Given the description of an element on the screen output the (x, y) to click on. 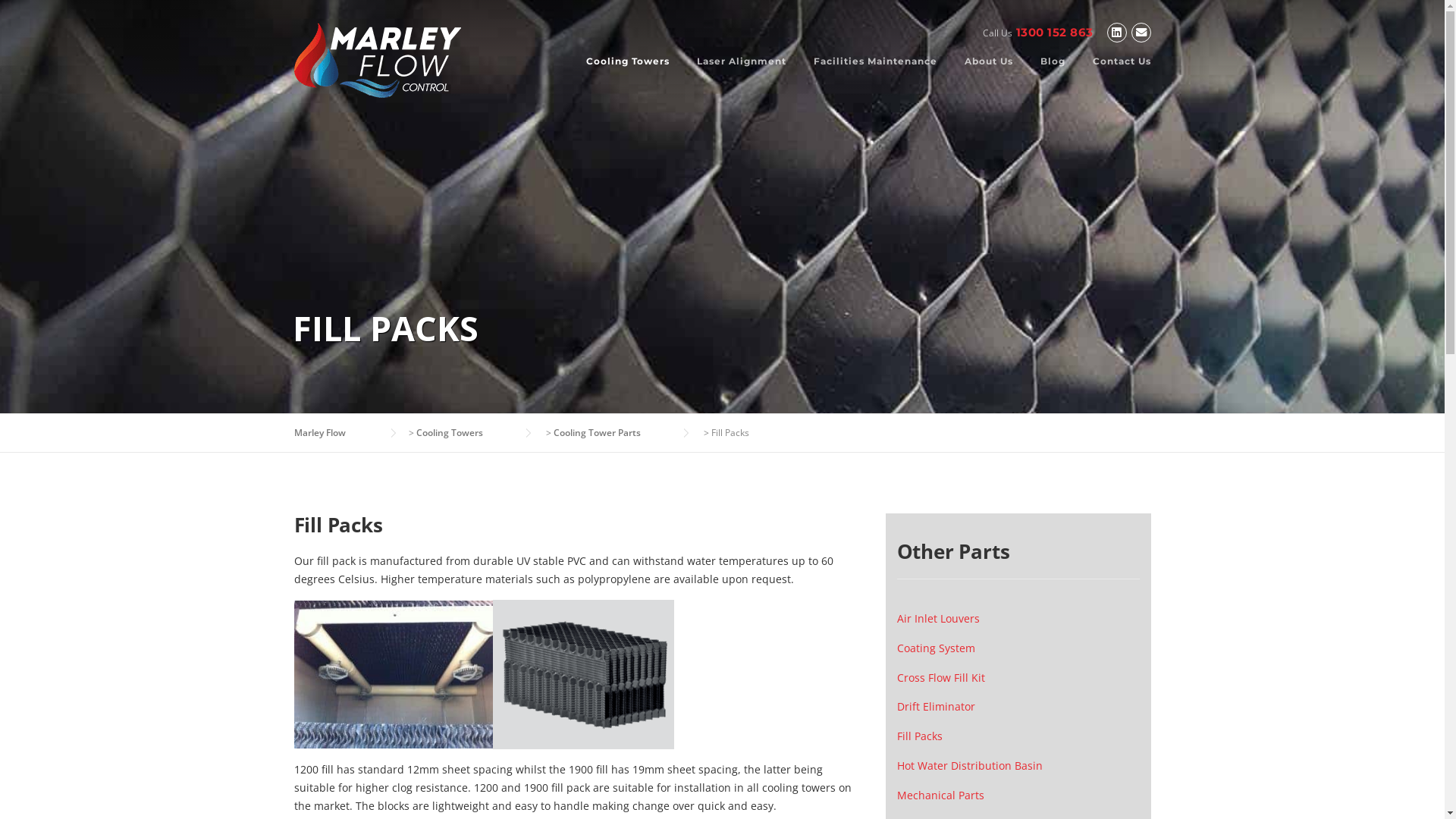
1300 152 863 Element type: text (1054, 32)
Cooling Towers Element type: text (463, 432)
About Us Element type: text (988, 72)
Marley Flow Element type: text (336, 432)
Blog Element type: text (1052, 72)
Coating System Element type: text (935, 647)
Linkedin Element type: hover (1116, 32)
Facilities Maintenance Element type: text (874, 72)
Hot Water Distribution Basin Element type: text (968, 765)
Laser Alignment Element type: text (740, 72)
Fill Packs Element type: text (918, 735)
Email Element type: hover (1141, 32)
Marley Flow  Element type: hover (377, 58)
Cooling Tower Parts Element type: text (612, 432)
Air Inlet Louvers Element type: text (937, 618)
Cooling Towers Element type: text (626, 72)
Drift Eliminator Element type: text (935, 706)
Cross Flow Fill Kit Element type: text (940, 677)
Mechanical Parts Element type: text (939, 794)
Contact Us Element type: text (1114, 72)
